Given the description of an element on the screen output the (x, y) to click on. 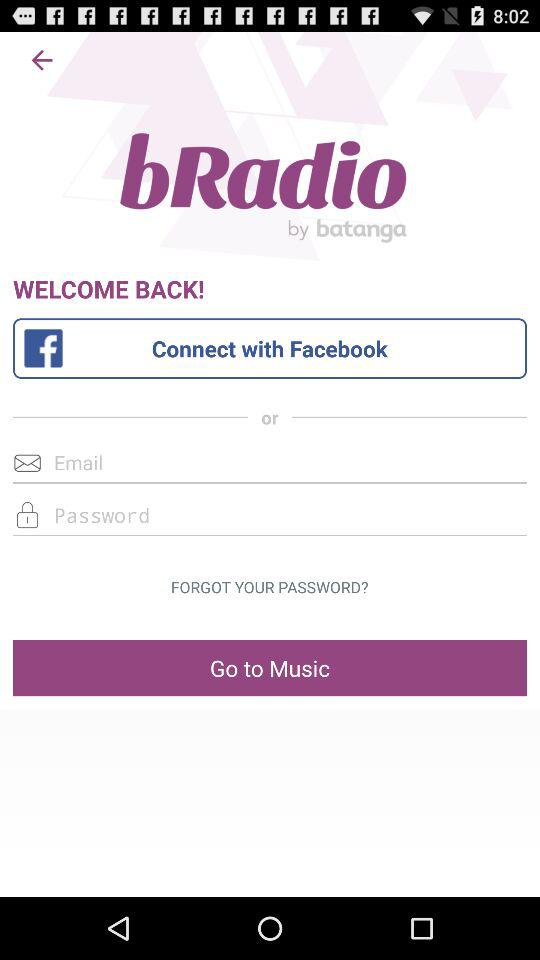
enter email (269, 462)
